Given the description of an element on the screen output the (x, y) to click on. 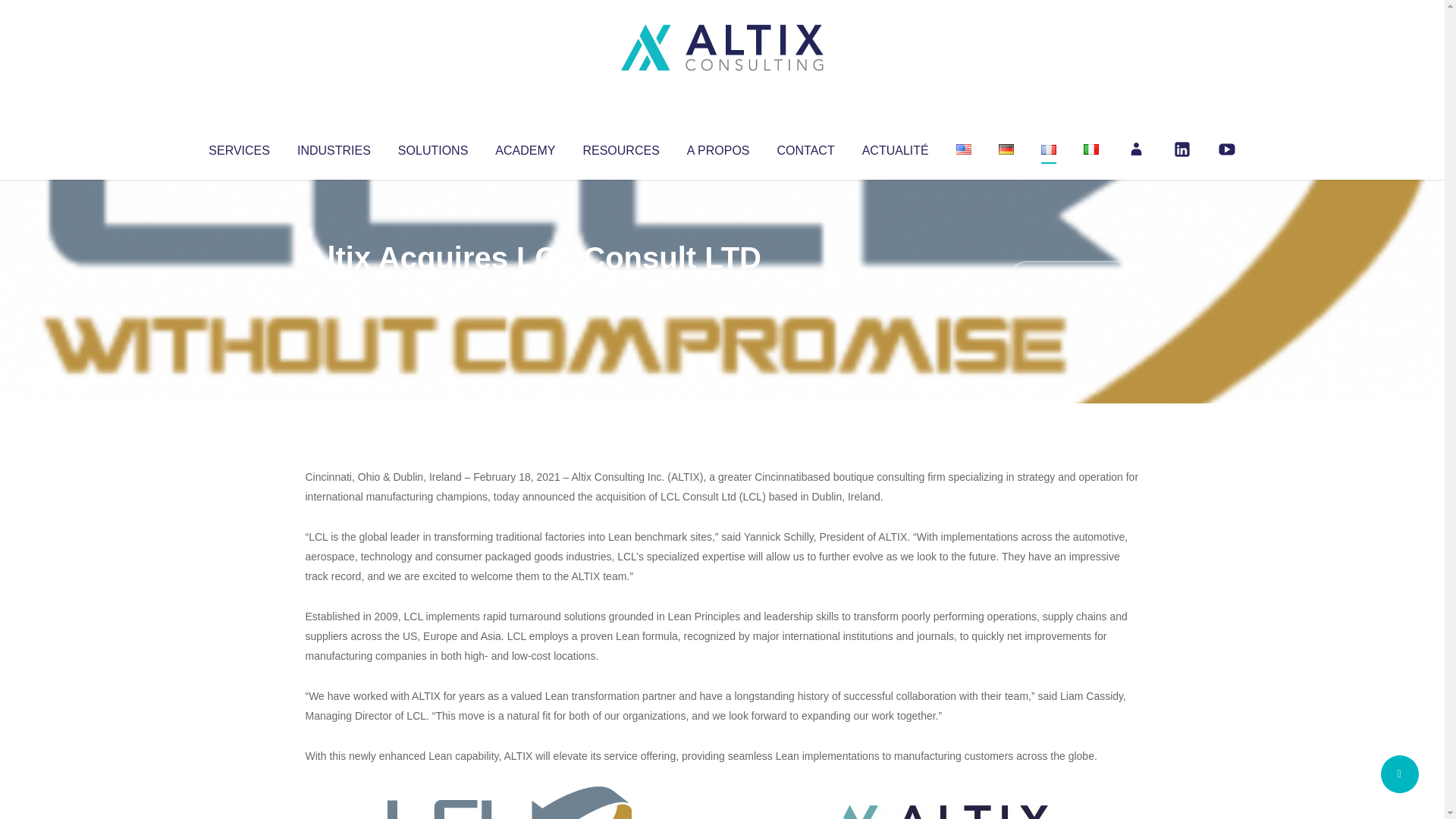
RESOURCES (620, 146)
Articles par Altix (333, 287)
No Comments (1073, 278)
A PROPOS (718, 146)
SERVICES (238, 146)
INDUSTRIES (334, 146)
Uncategorized (530, 287)
ACADEMY (524, 146)
SOLUTIONS (432, 146)
Altix (333, 287)
